Given the description of an element on the screen output the (x, y) to click on. 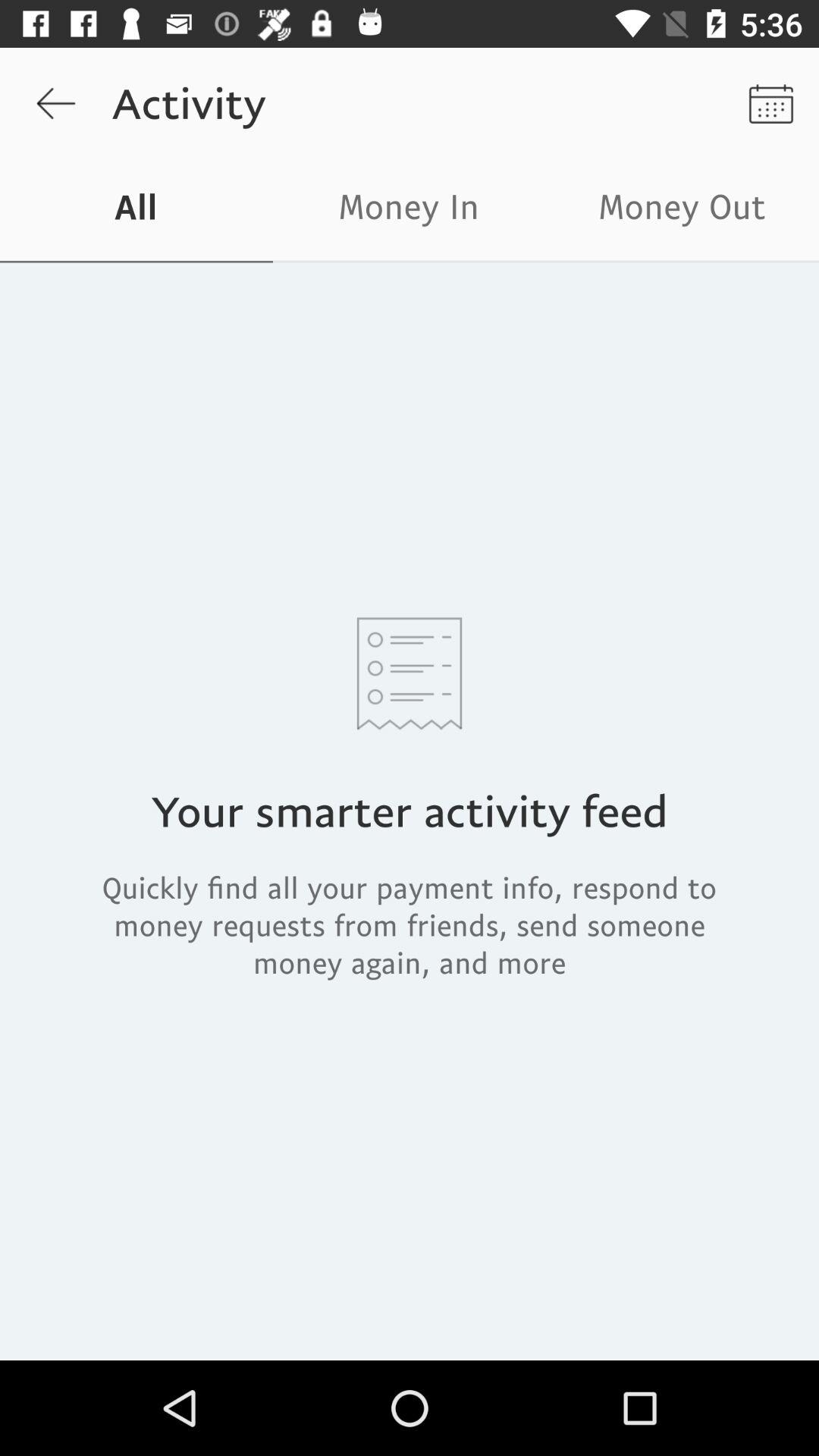
flip until the money out (682, 210)
